Given the description of an element on the screen output the (x, y) to click on. 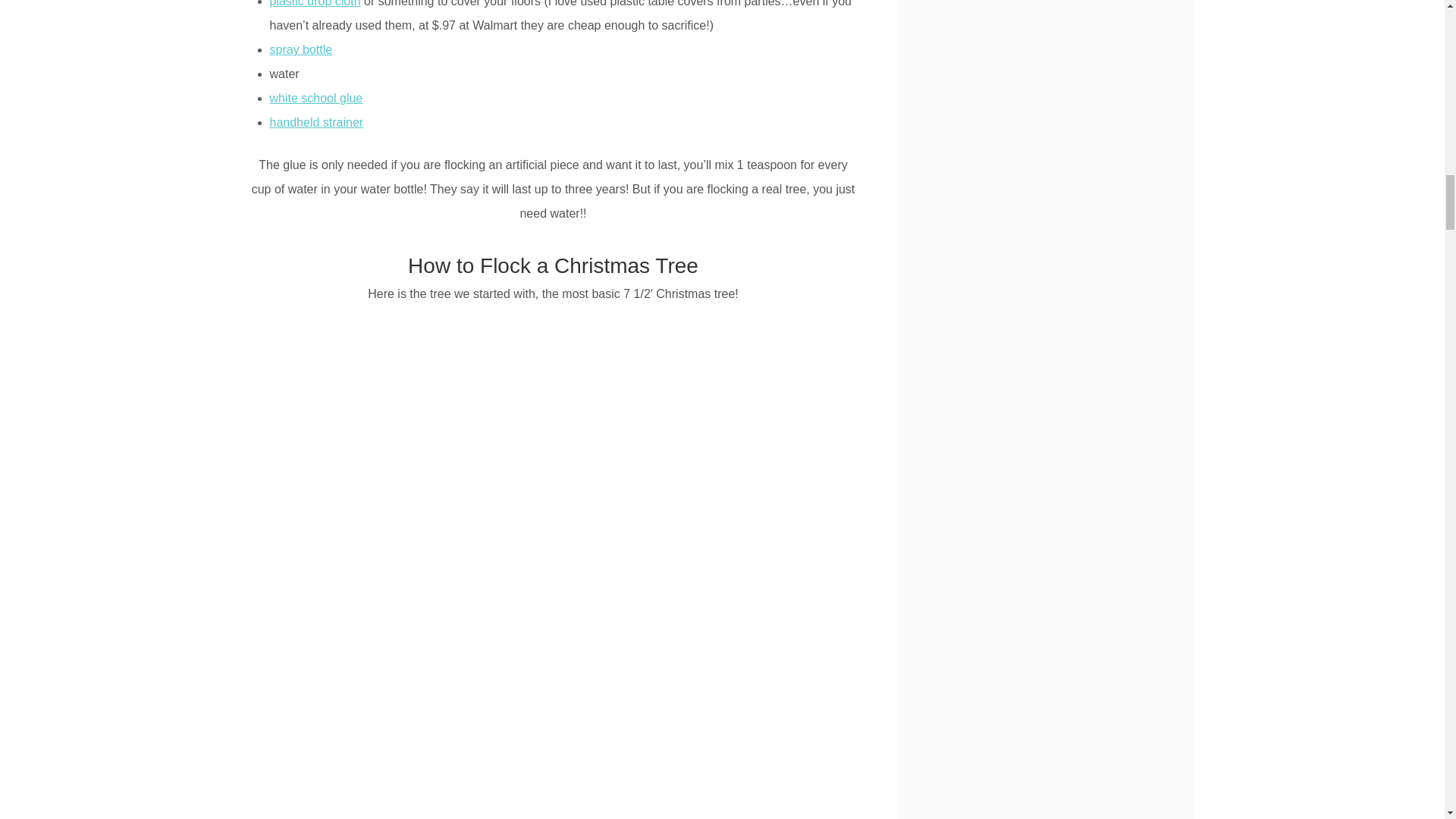
plastic drop cloth (315, 3)
white school glue (315, 97)
spray bottle (301, 49)
